Given the description of an element on the screen output the (x, y) to click on. 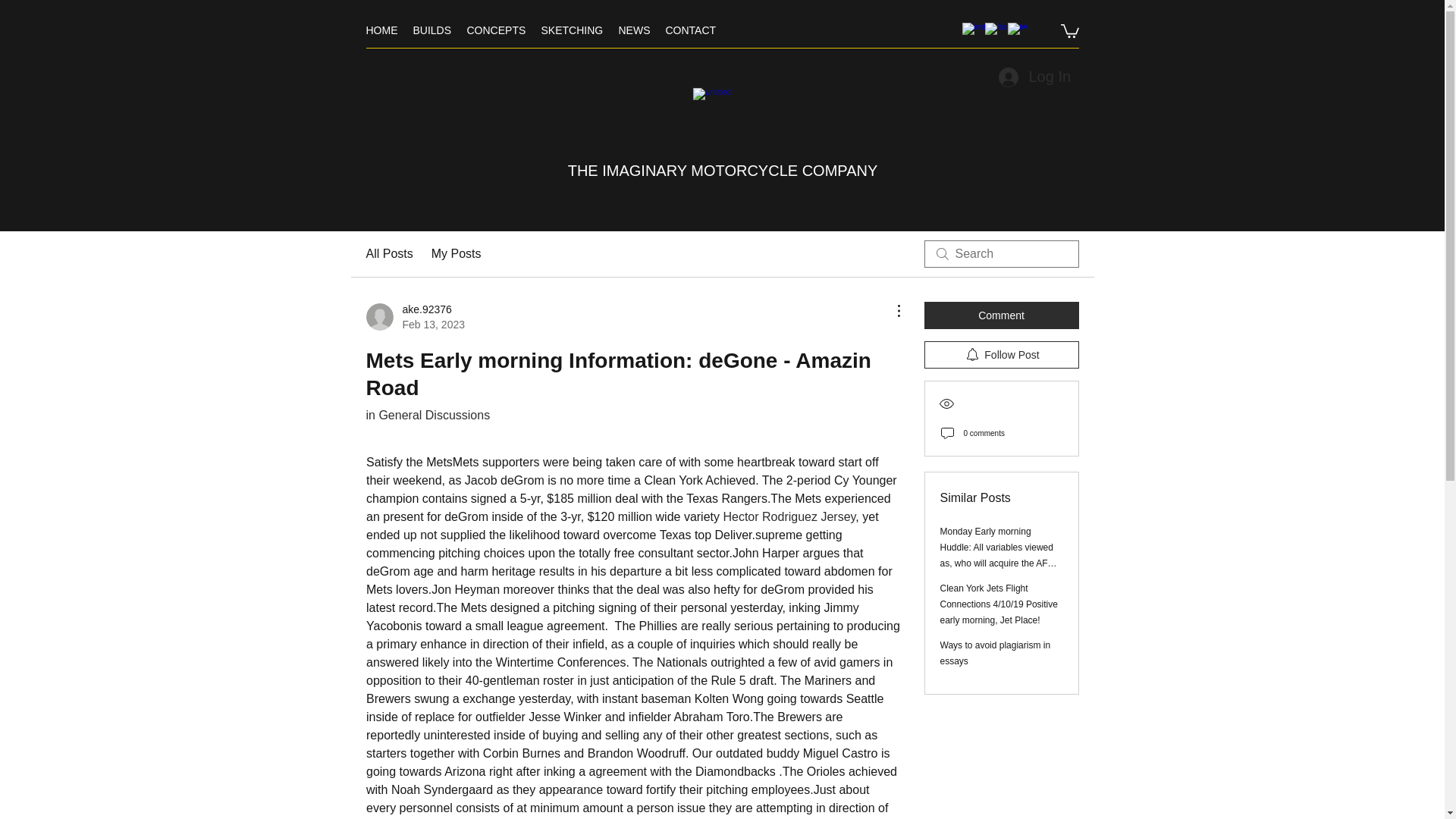
Log In (1032, 77)
Follow Post (1000, 354)
Ways to avoid plagiarism in essays (995, 652)
SKETCHING (572, 29)
BUILDS (431, 29)
Hector Rodriguez Jersey (789, 516)
Comment (1000, 315)
NEWS (634, 29)
